Given the description of an element on the screen output the (x, y) to click on. 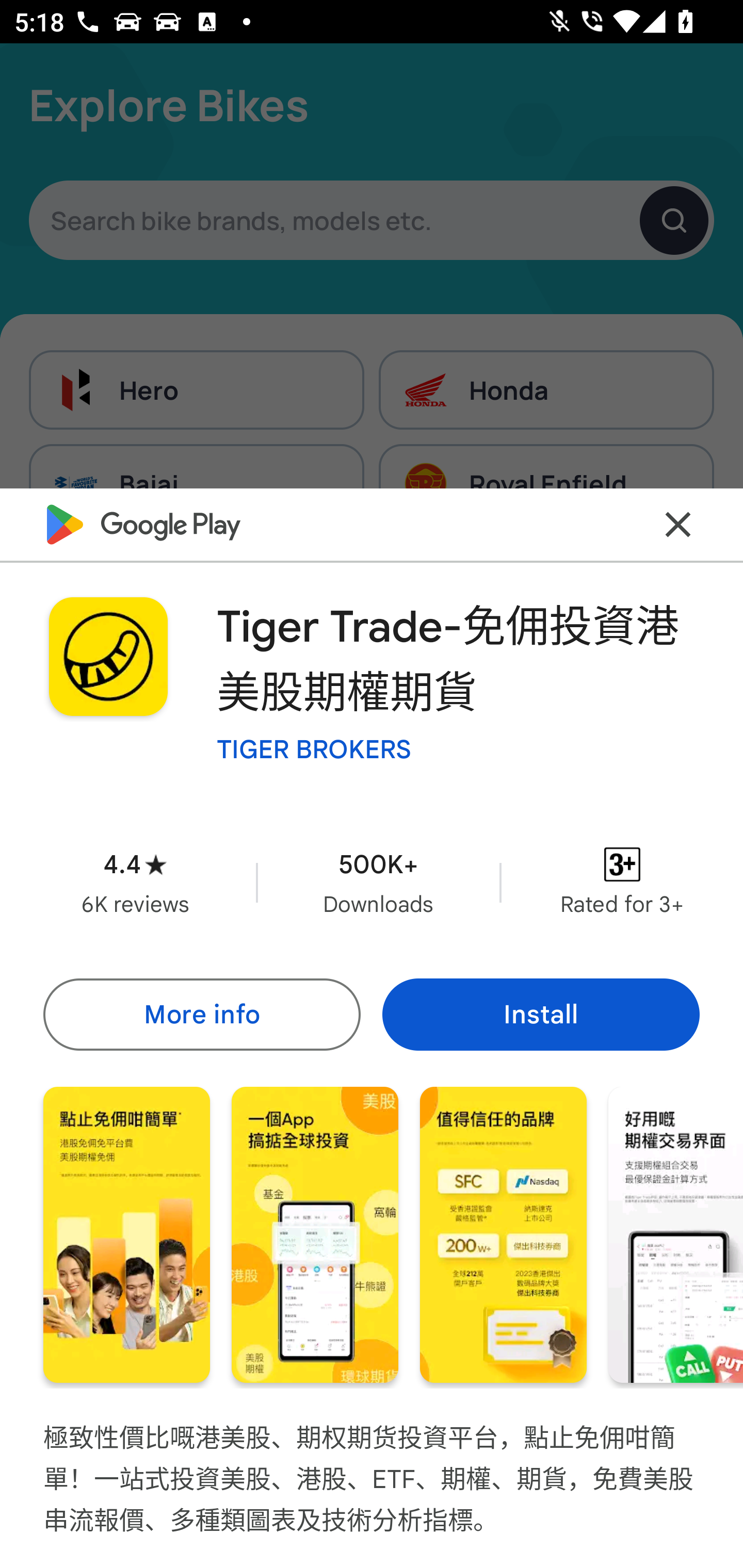
Close (677, 525)
TIGER BROKERS (313, 748)
More info (201, 1014)
Install (540, 1014)
Screenshot "1" of "8" (126, 1234)
Screenshot "2" of "8" (314, 1234)
Screenshot "3" of "8" (502, 1234)
Screenshot "4" of "8" (675, 1234)
